Given the description of an element on the screen output the (x, y) to click on. 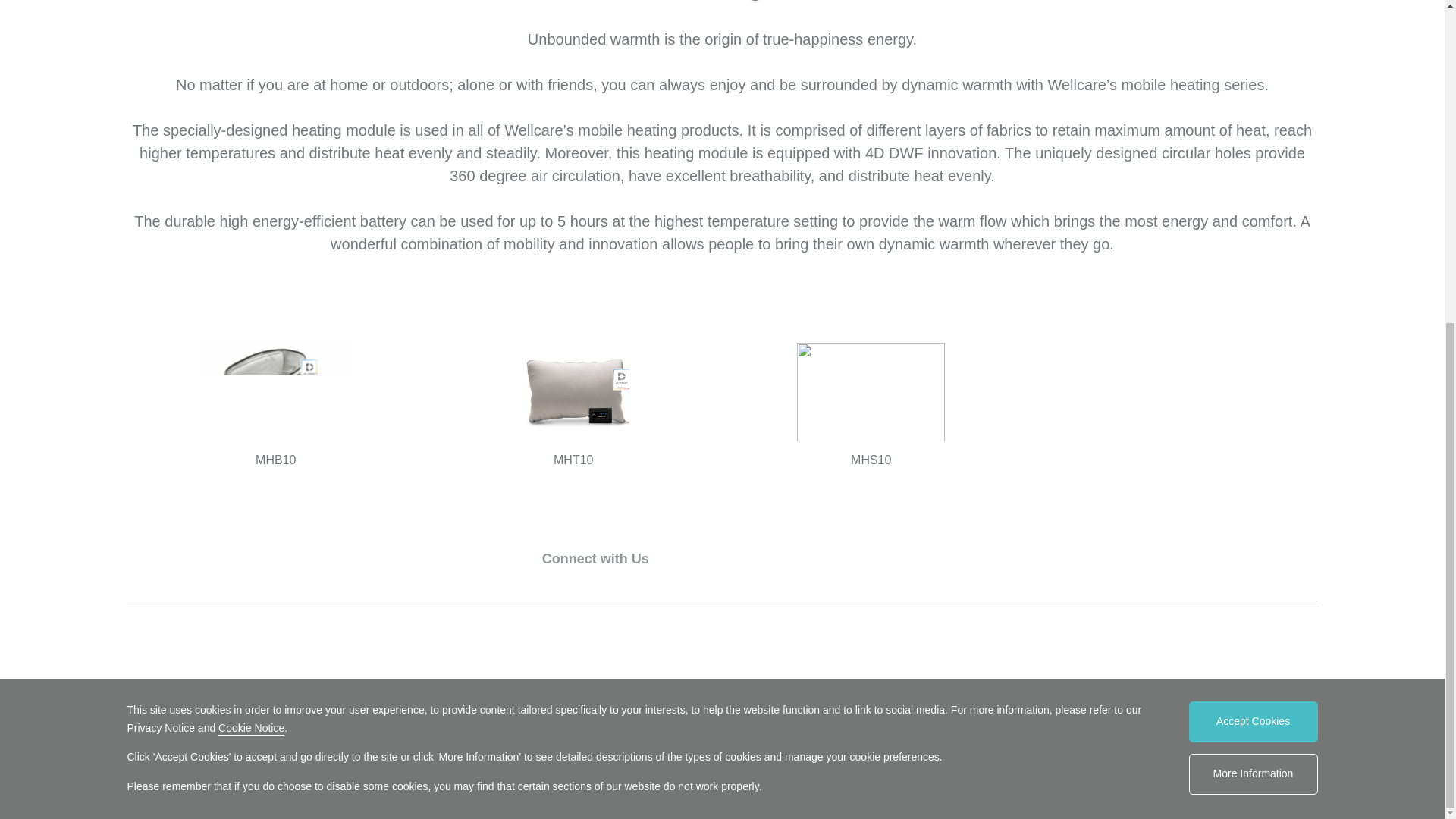
Cookie Notice (250, 200)
Privacy Notice (634, 209)
